Given the description of an element on the screen output the (x, y) to click on. 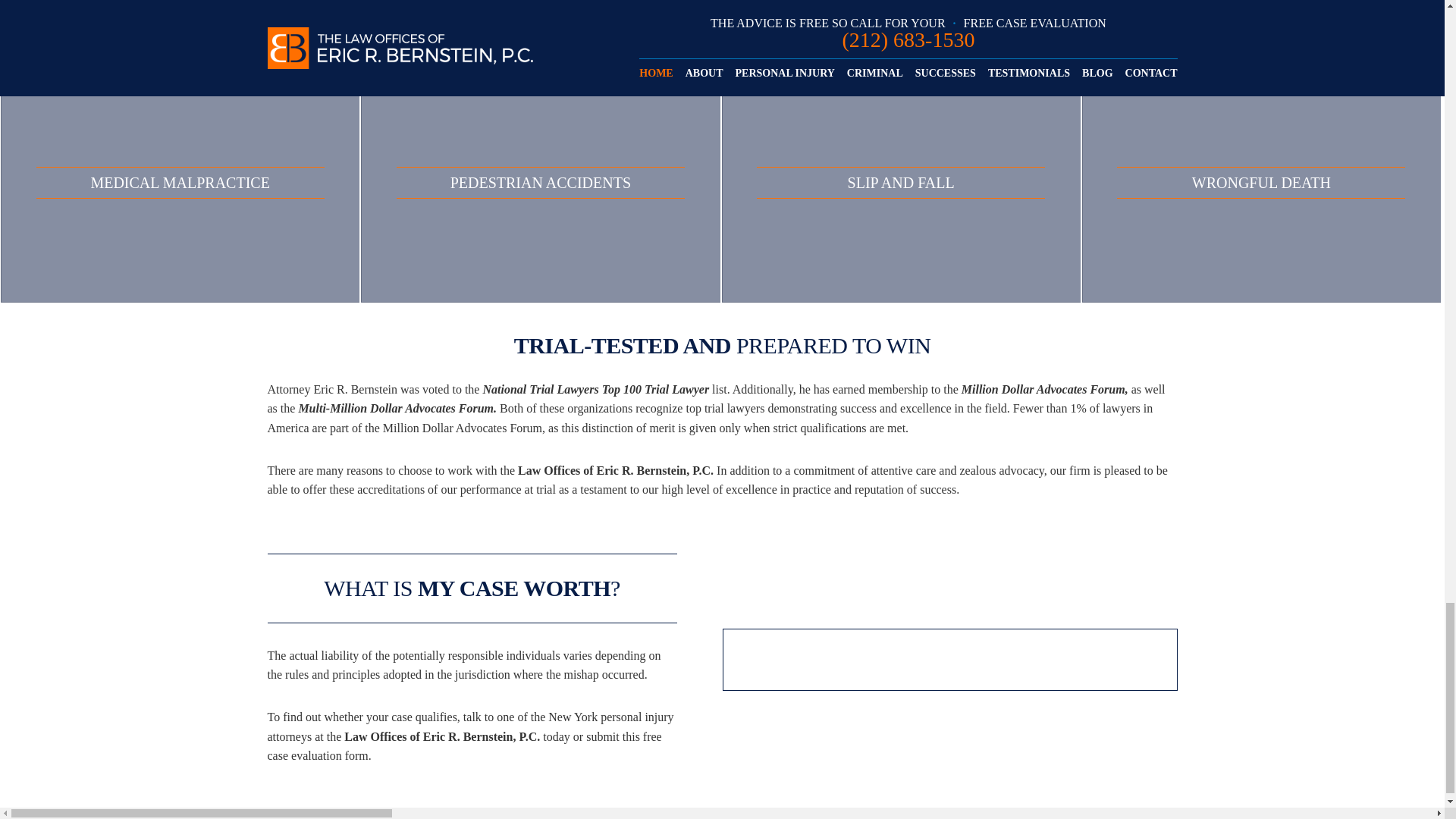
Pedestrian Accidents (540, 182)
Spinal Cord Injuries (901, 31)
Medical Malpractice (180, 182)
Slip and Fall Claims (901, 182)
Traumatic Brain Injuries (540, 31)
Dog Bite Claims (1261, 31)
Motor Vehicle Accidents (180, 31)
Wrongful Death (1261, 182)
